Given the description of an element on the screen output the (x, y) to click on. 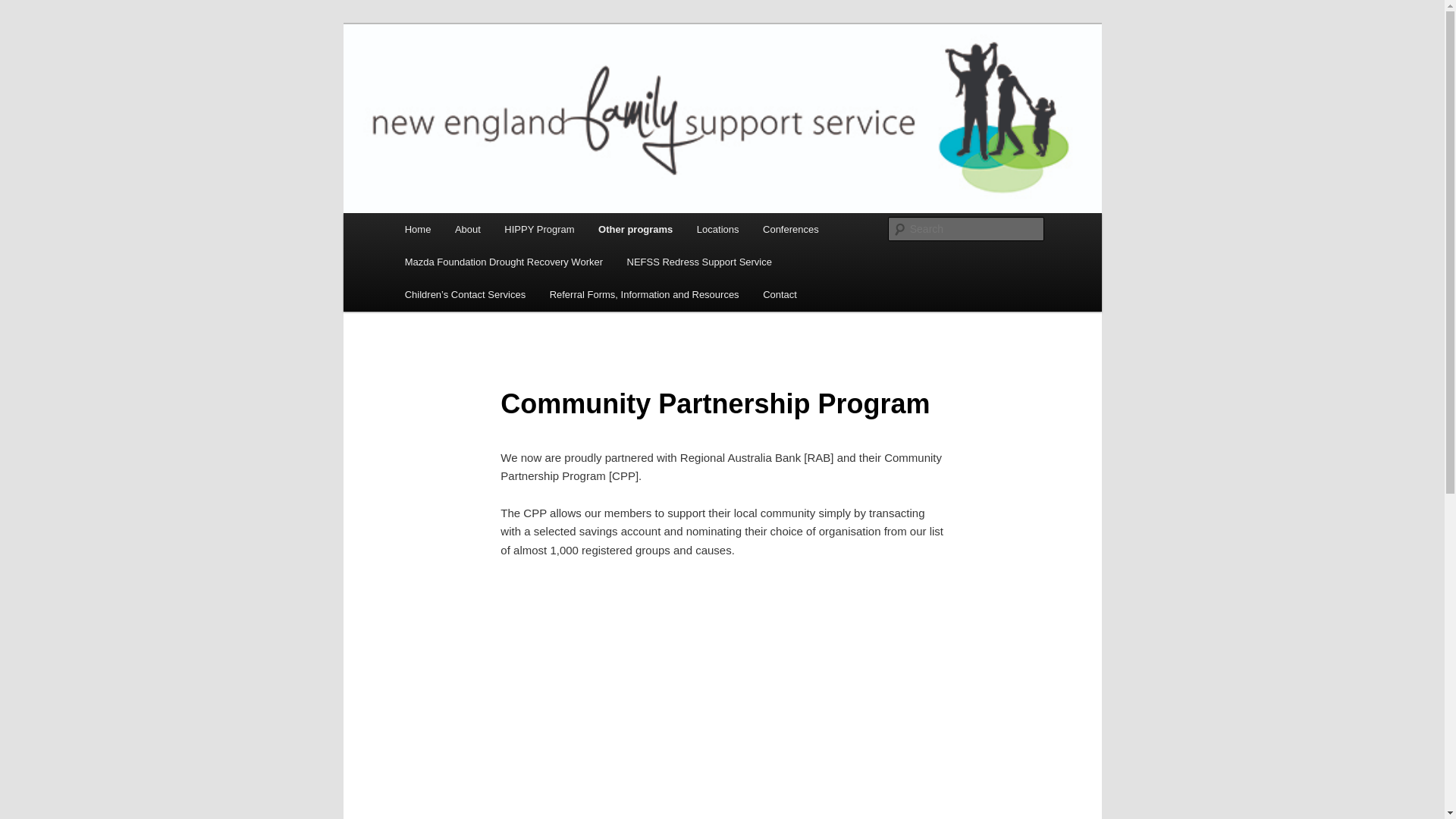
About Element type: text (467, 229)
NEFSS Redress Support Service Element type: text (699, 261)
Skip to primary content Element type: text (22, 22)
Mazda Foundation Drought Recovery Worker Element type: text (503, 261)
Search Element type: text (24, 8)
Conferences Element type: text (790, 229)
Home Element type: text (417, 229)
Contact Element type: text (779, 294)
Referral Forms, Information and Resources Element type: text (643, 294)
Other programs Element type: text (635, 229)
HIPPY Program Element type: text (539, 229)
Locations Element type: text (717, 229)
New England Family Support Service Element type: text (601, 78)
